Given the description of an element on the screen output the (x, y) to click on. 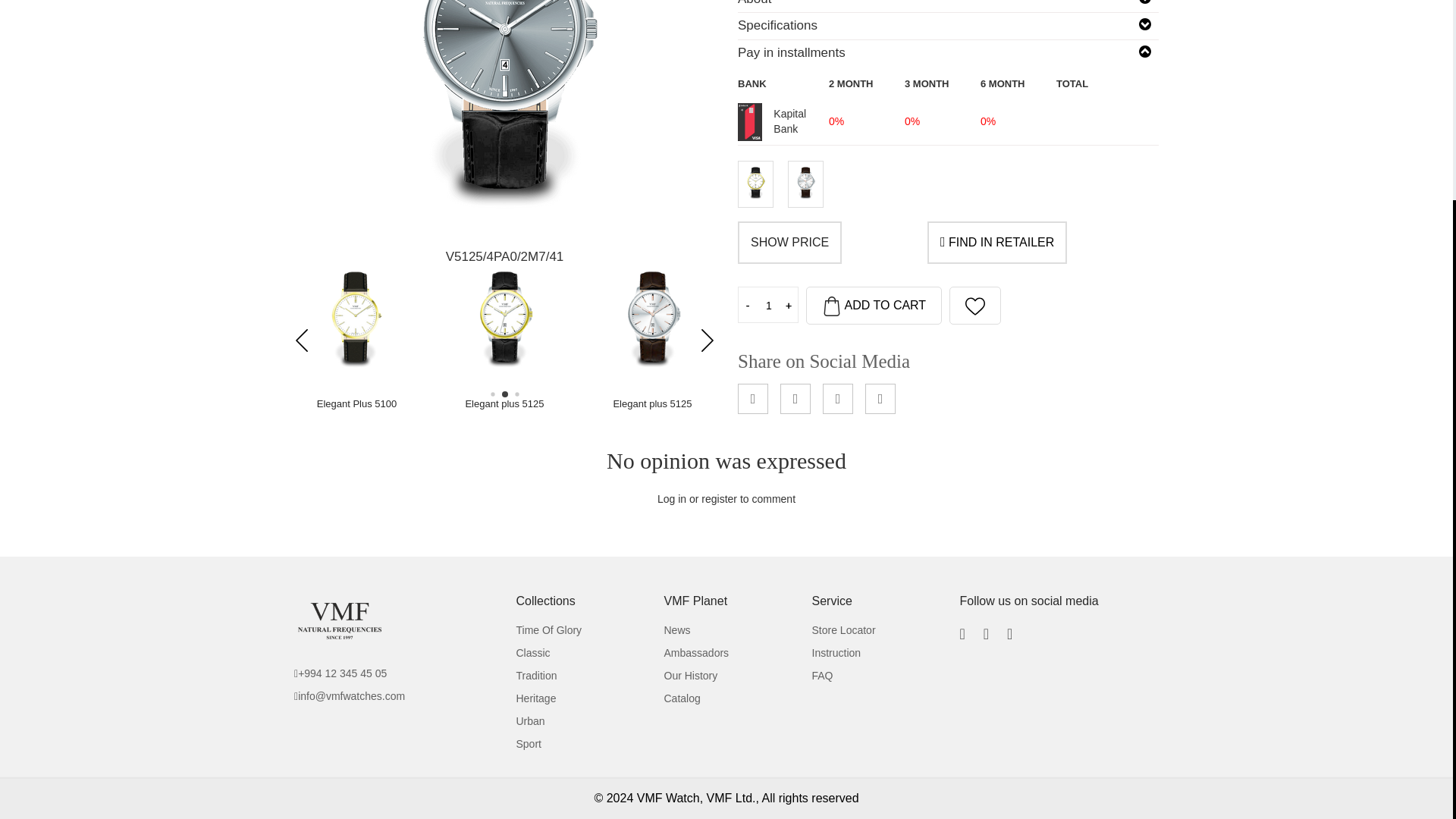
1 (768, 305)
